Given the description of an element on the screen output the (x, y) to click on. 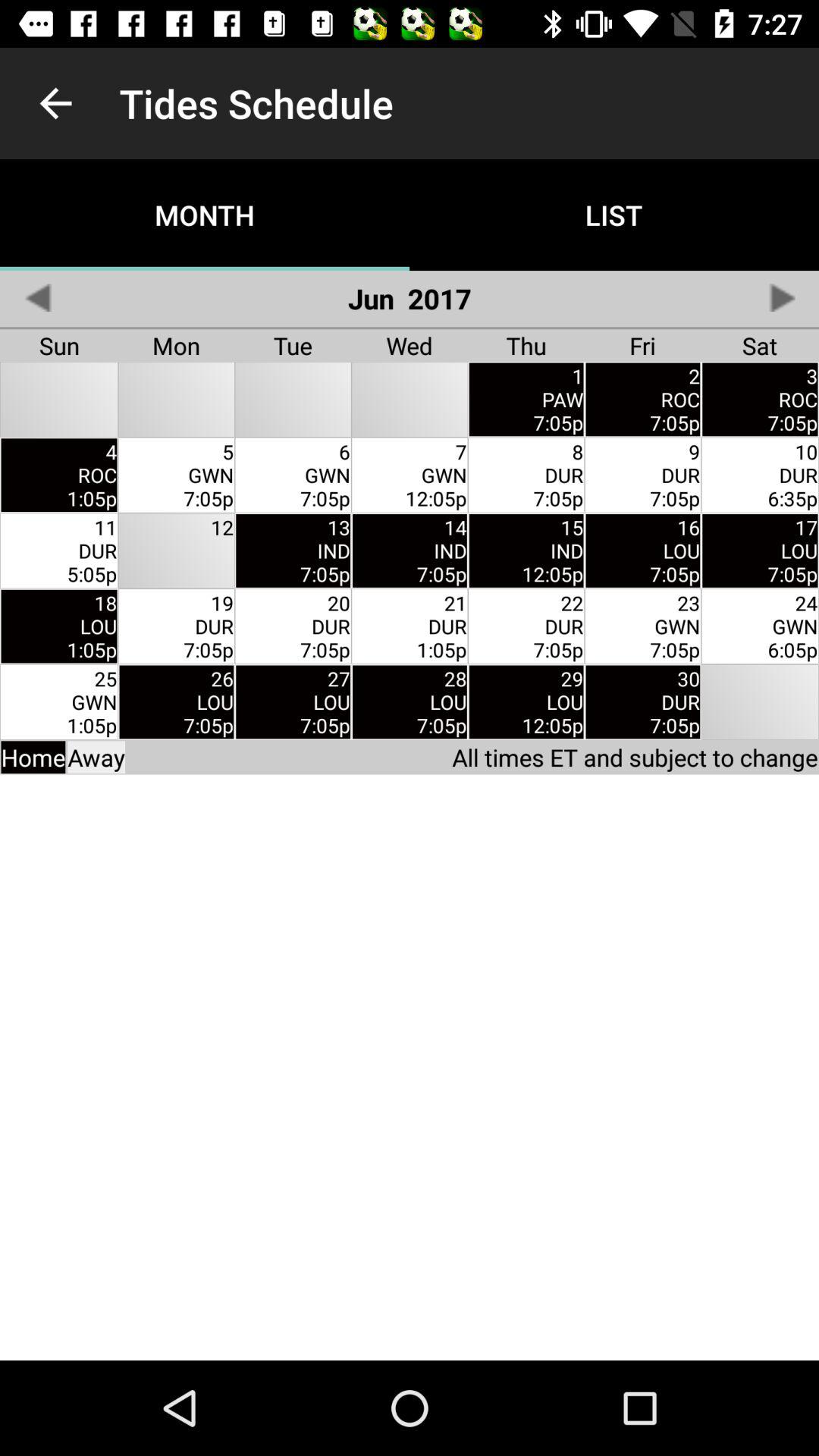
go to next page (781, 297)
